Given the description of an element on the screen output the (x, y) to click on. 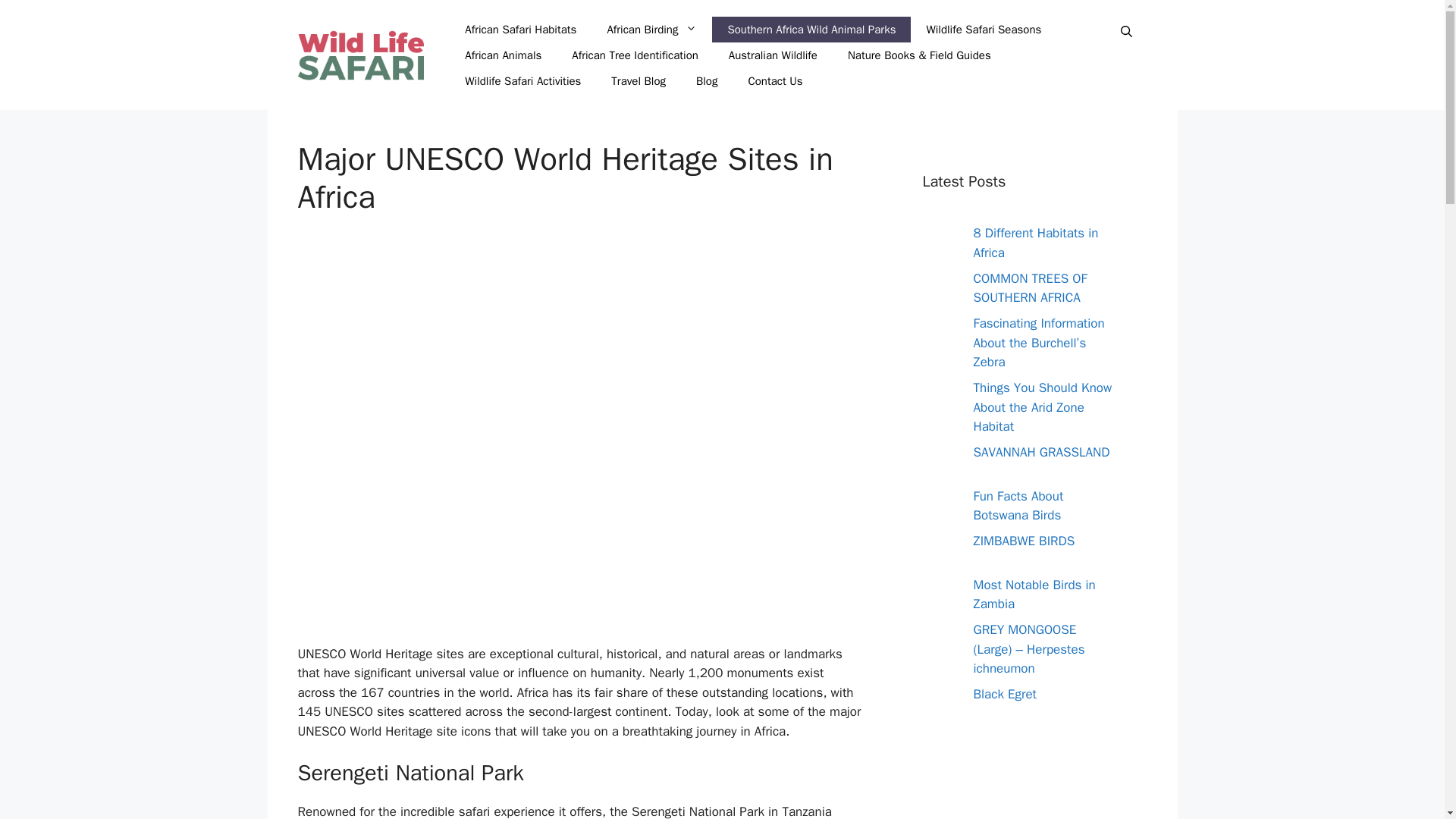
African Tree Identification (634, 54)
Things You Should Know About the Arid Zone Habitat (1043, 407)
Travel Blog (638, 80)
COMMON TREES OF SOUTHERN AFRICA (1030, 287)
Wildlife Safari Seasons (984, 29)
Blog (706, 80)
Australian Wildlife (772, 54)
8 Different Habitats in Africa (1036, 243)
Contact Us (774, 80)
African Birding (651, 29)
